Given the description of an element on the screen output the (x, y) to click on. 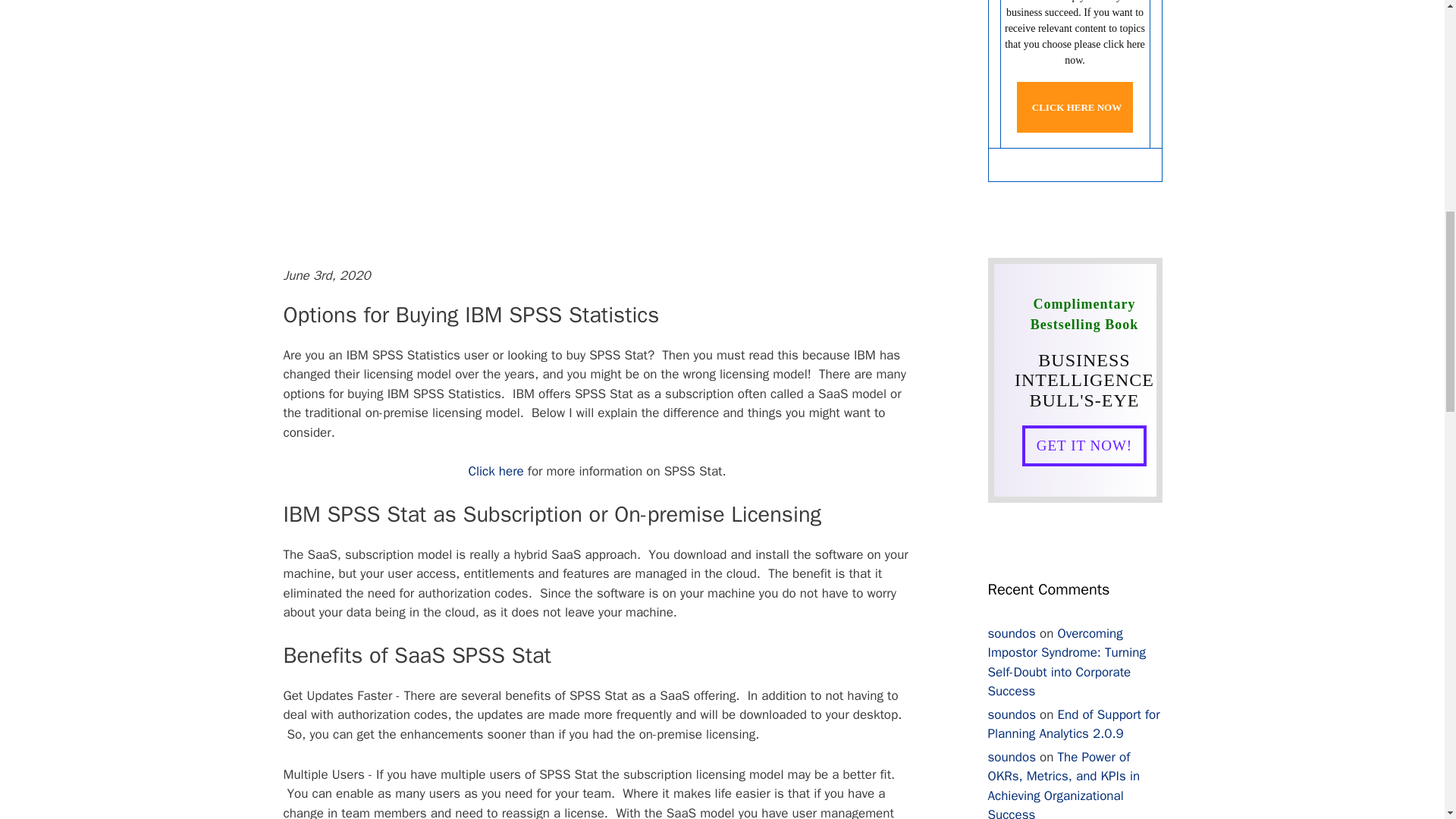
Click here (494, 471)
